Given the description of an element on the screen output the (x, y) to click on. 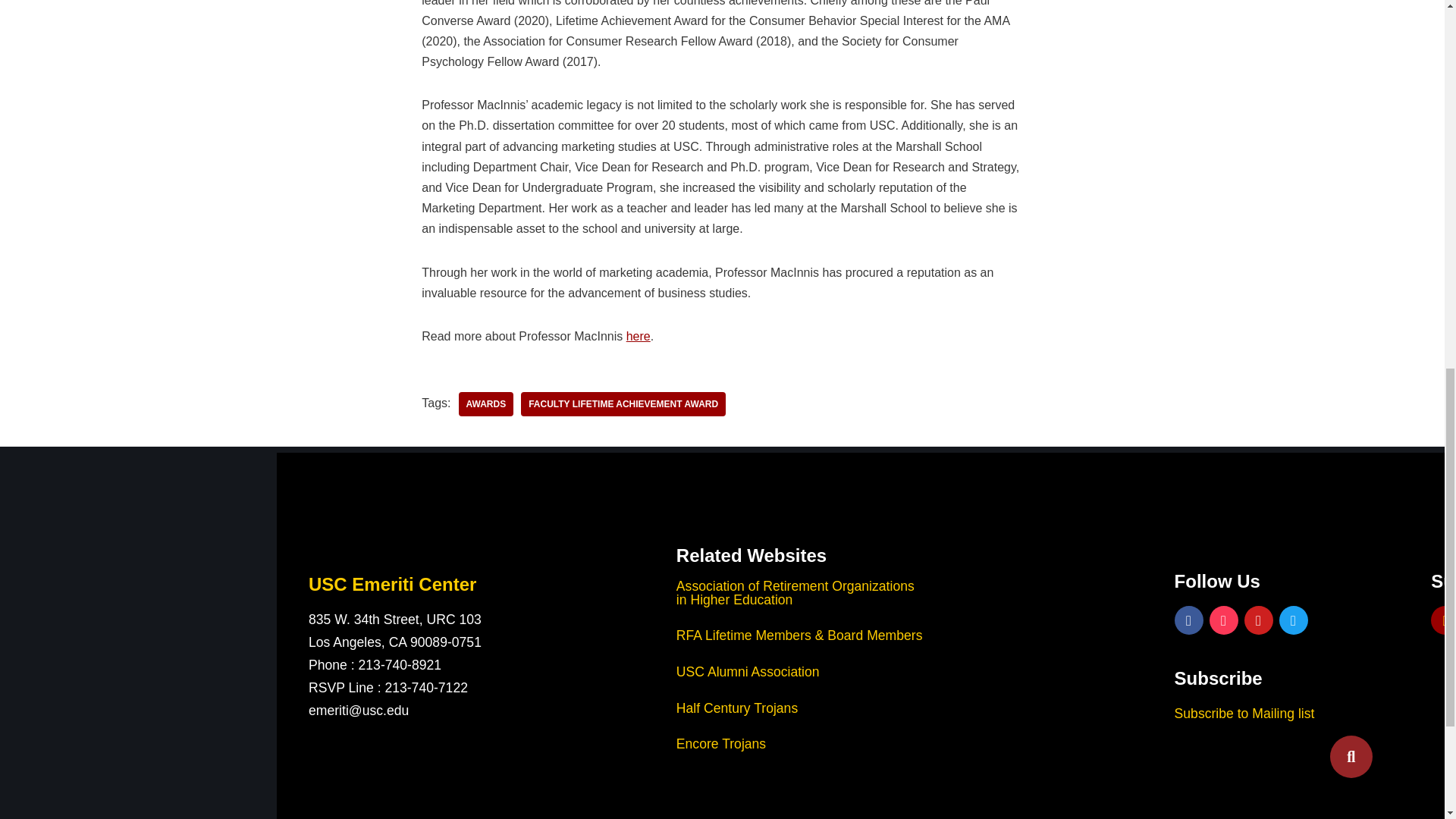
Faculty Lifetime Achievement Award (623, 404)
Awards (485, 404)
